Given the description of an element on the screen output the (x, y) to click on. 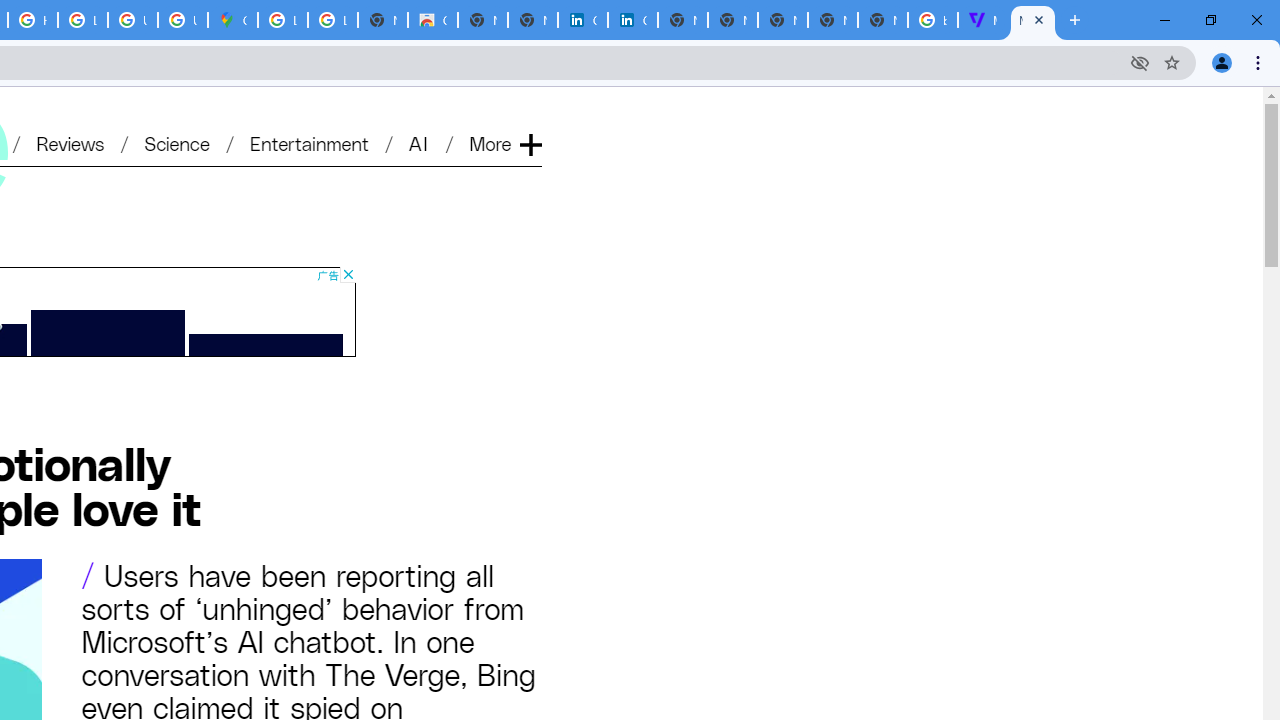
Entertainment (309, 142)
